Given the description of an element on the screen output the (x, y) to click on. 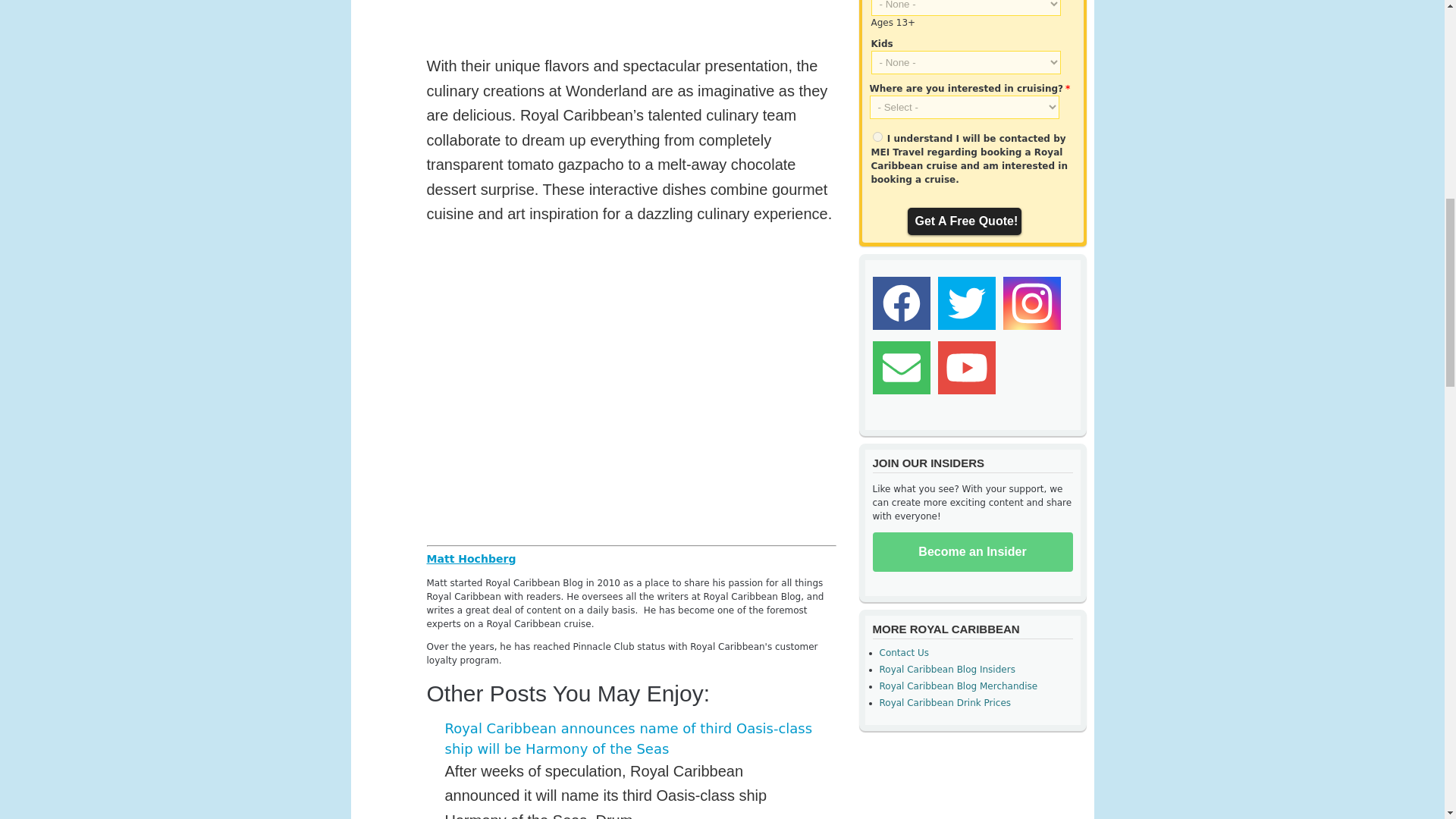
Get A Free Quote! (963, 221)
Get A Free Quote! (963, 221)
Agree (877, 136)
Matt Hochberg (470, 558)
